Given the description of an element on the screen output the (x, y) to click on. 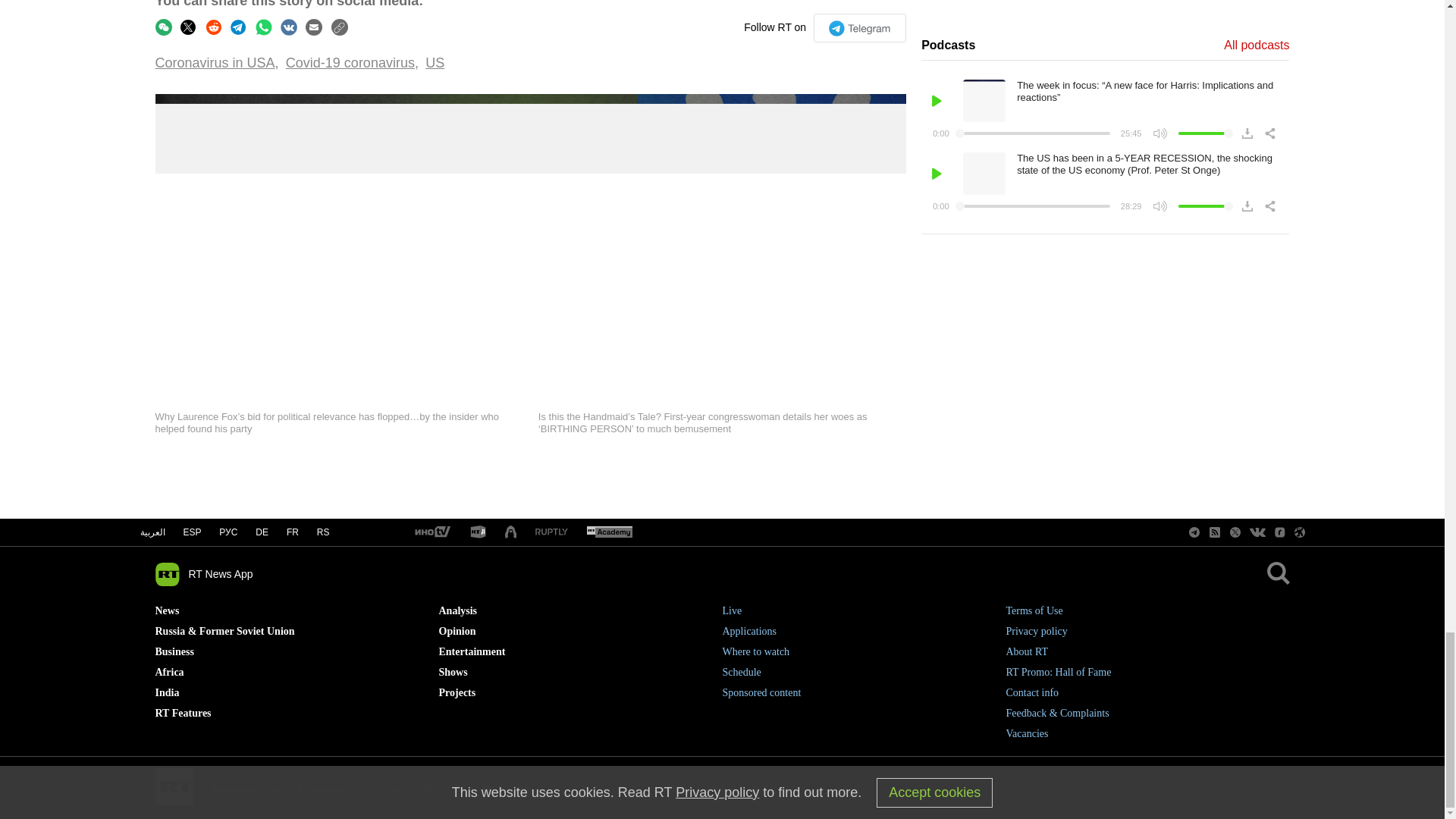
RT  (608, 532)
RT  (551, 532)
RT  (431, 532)
RT  (478, 532)
